Given the description of an element on the screen output the (x, y) to click on. 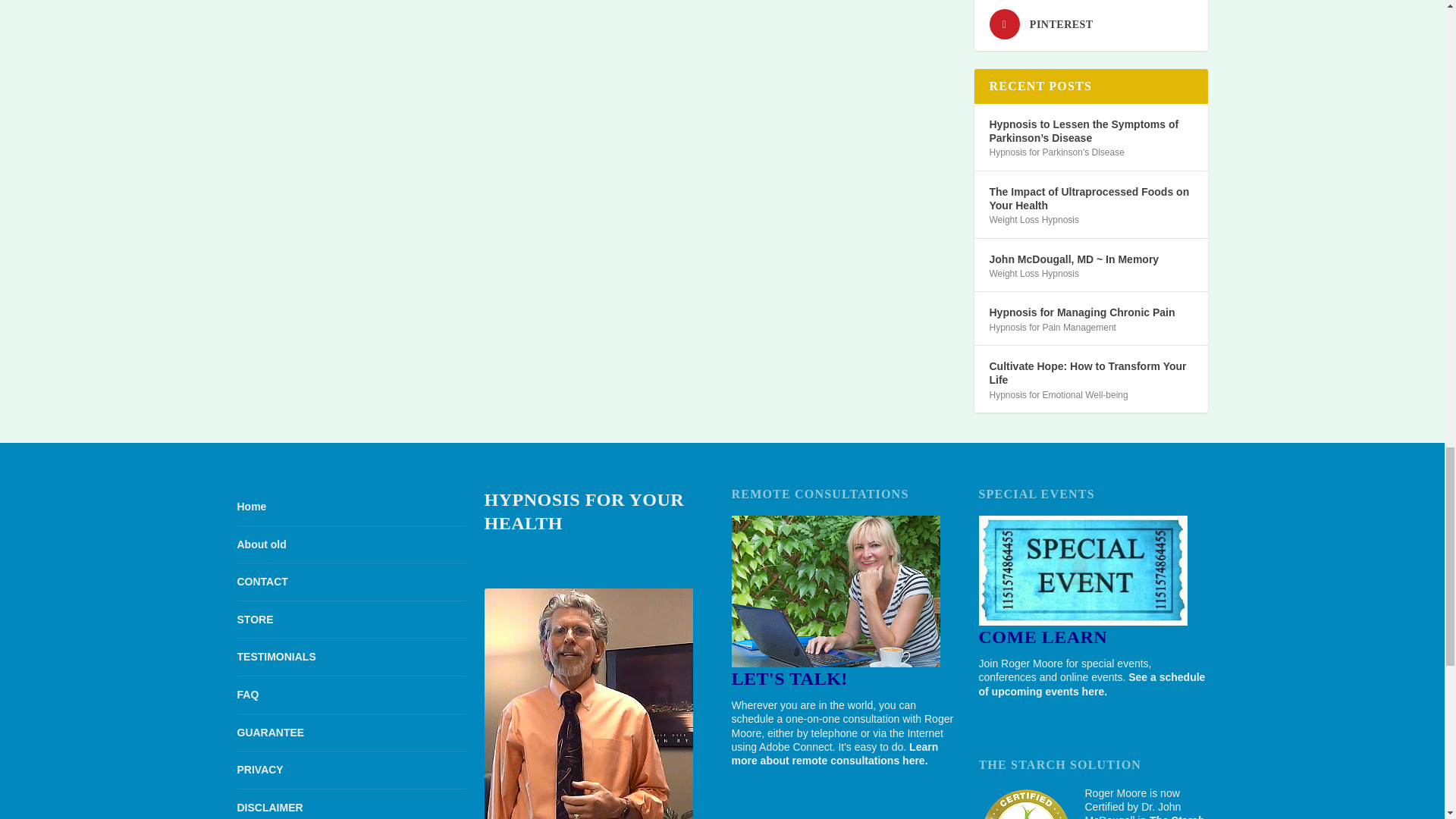
Events (1082, 570)
phone-consultaion (834, 591)
health-sidebar (588, 703)
